Given the description of an element on the screen output the (x, y) to click on. 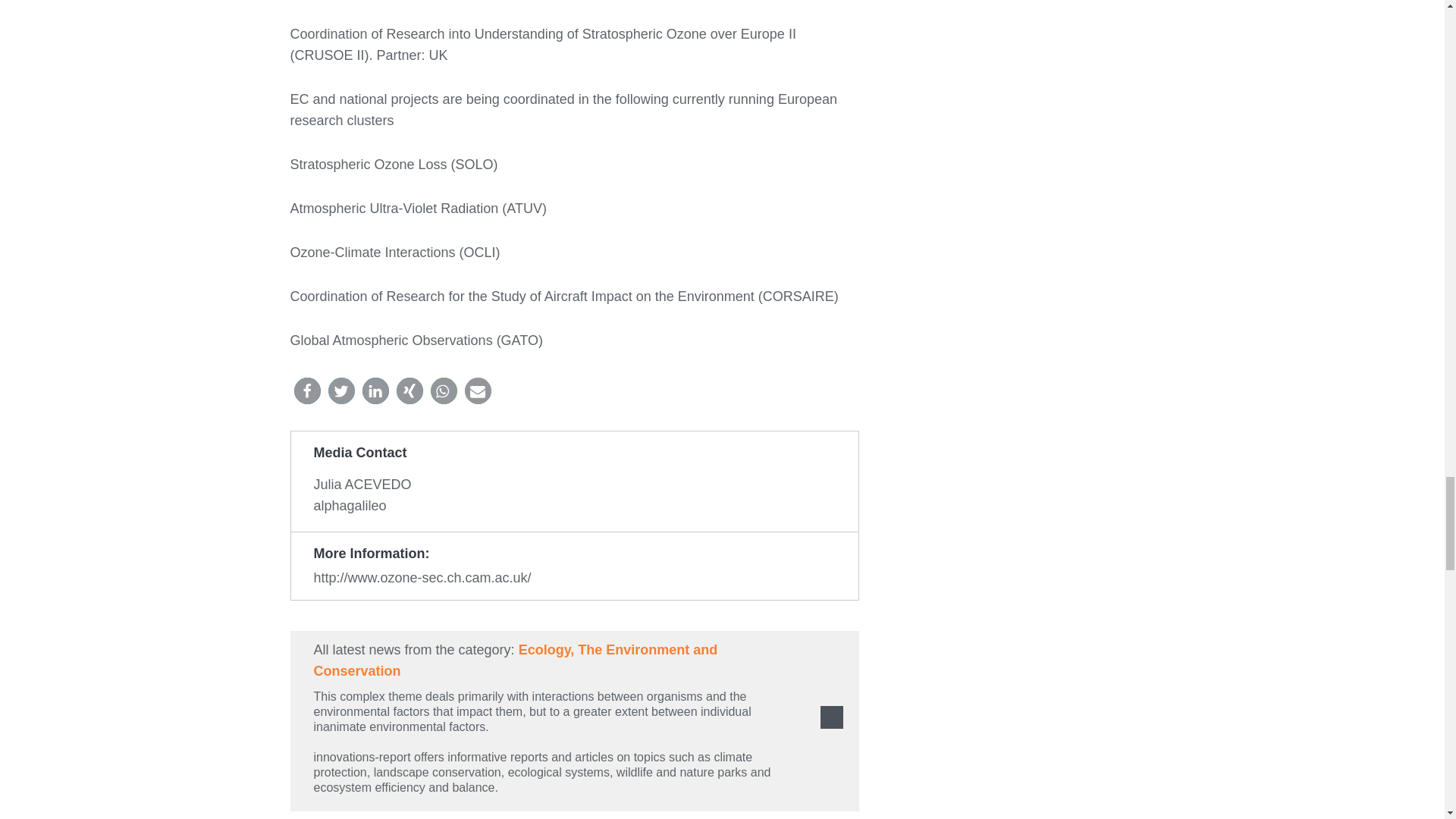
Share on Twitter (340, 390)
Share on Facebook (307, 390)
Share on LinkedIn (375, 390)
Share on XING (409, 390)
Share on Whatsapp (443, 390)
Send by email (477, 390)
